Given the description of an element on the screen output the (x, y) to click on. 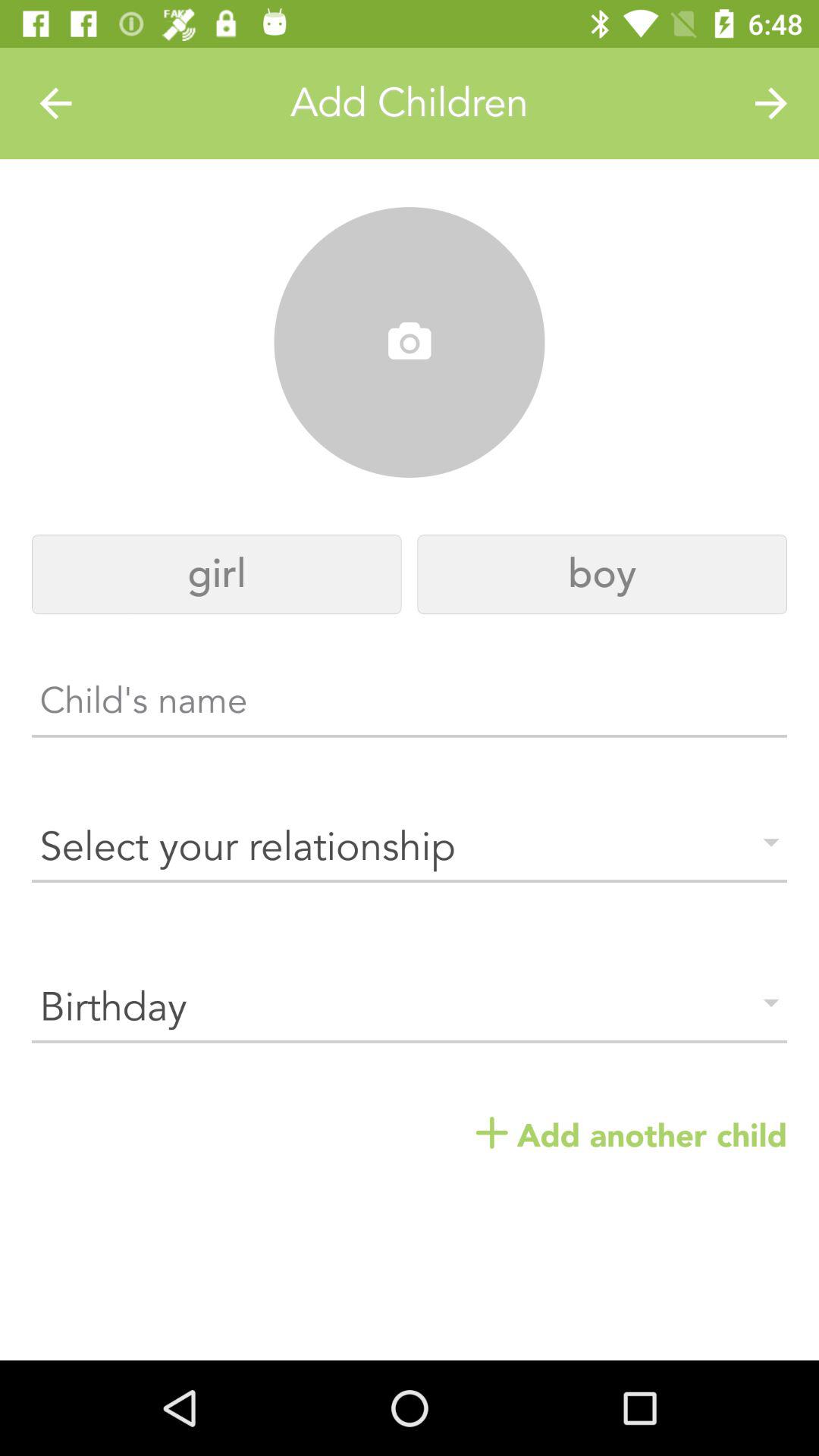
select the add children icon (409, 103)
